Given the description of an element on the screen output the (x, y) to click on. 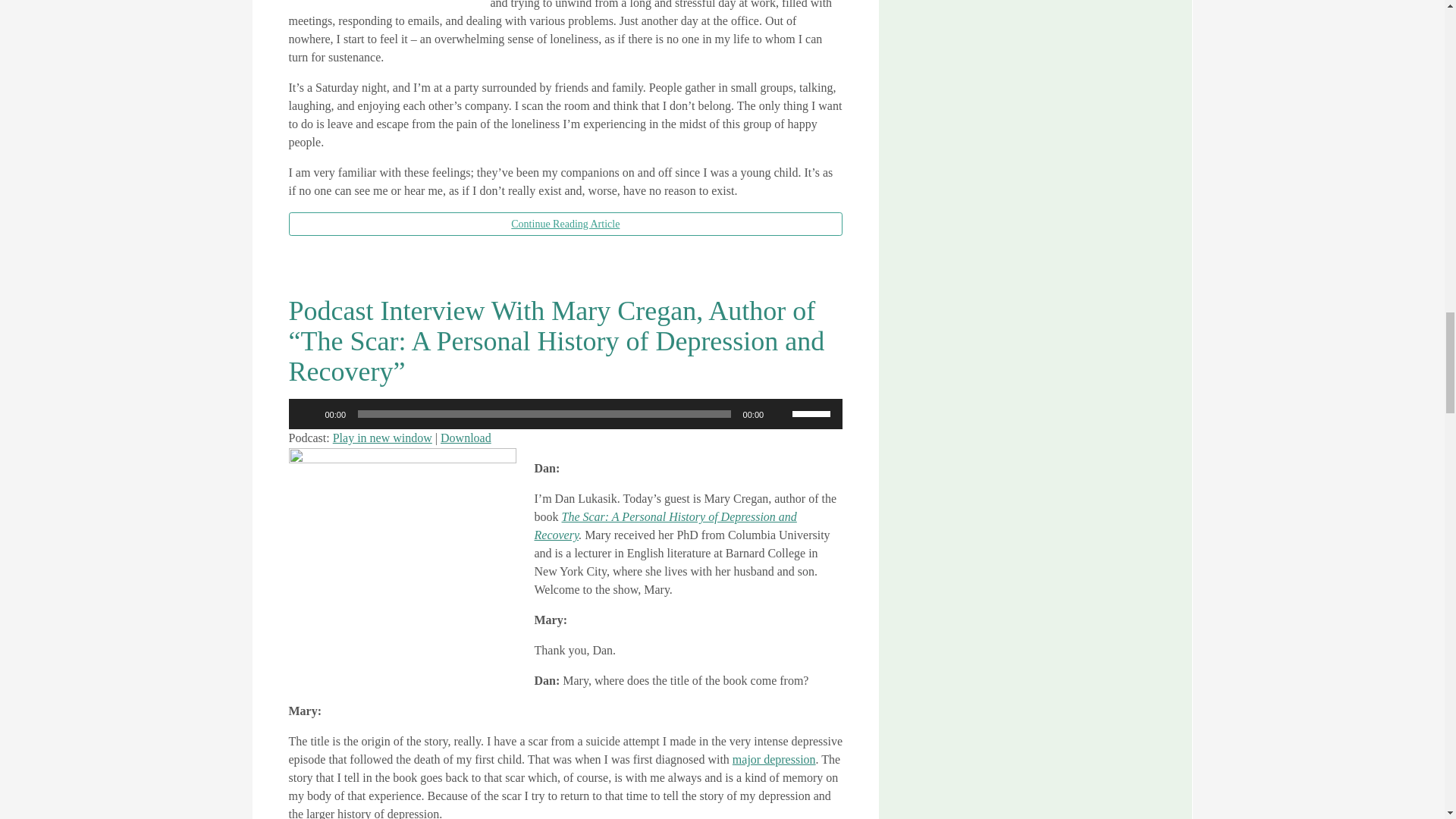
Play in new window (382, 437)
Mute (780, 413)
Download (466, 437)
Play (307, 413)
